Given the description of an element on the screen output the (x, y) to click on. 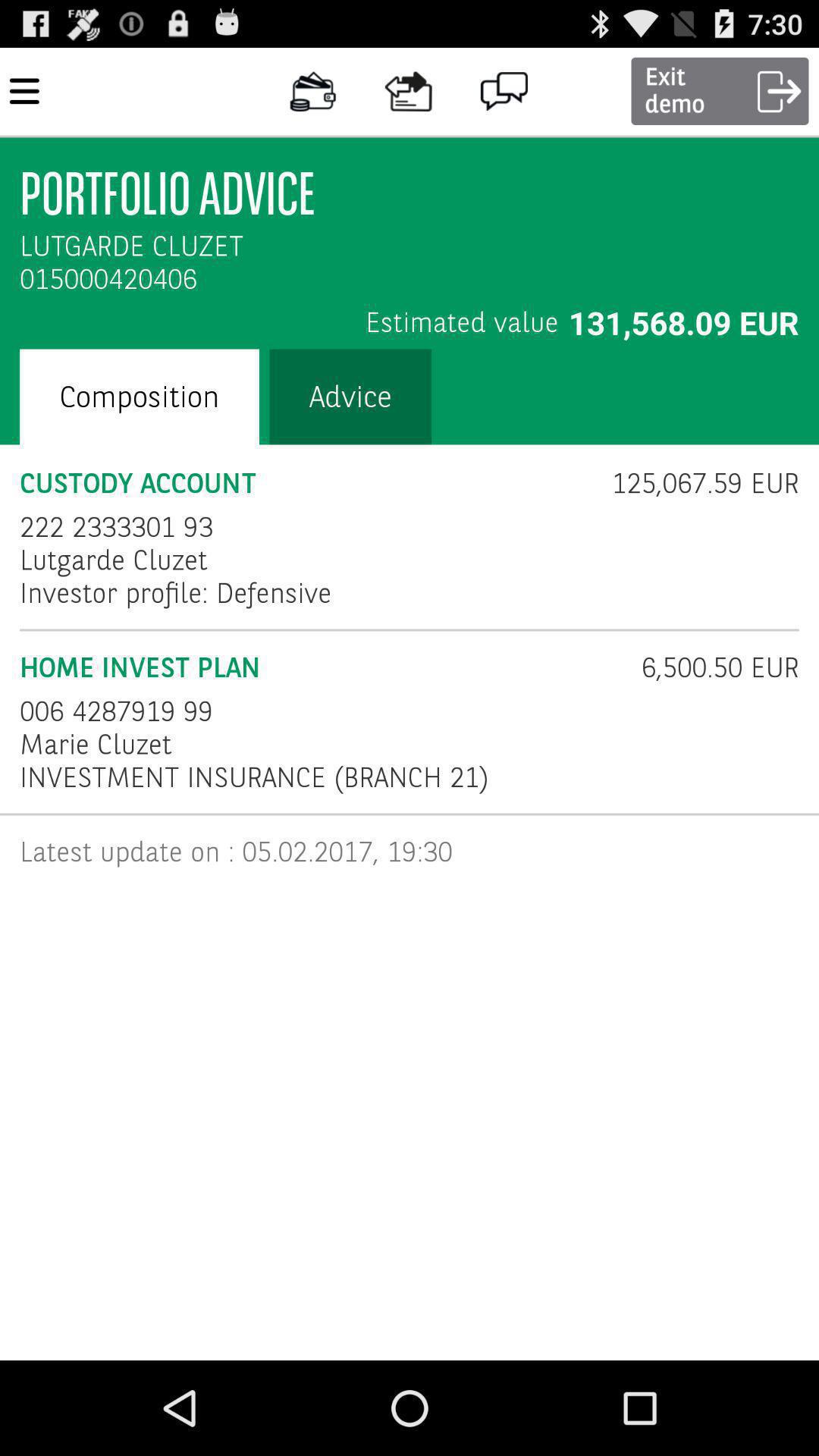
tap the item below 131 568 09 item (695, 482)
